Given the description of an element on the screen output the (x, y) to click on. 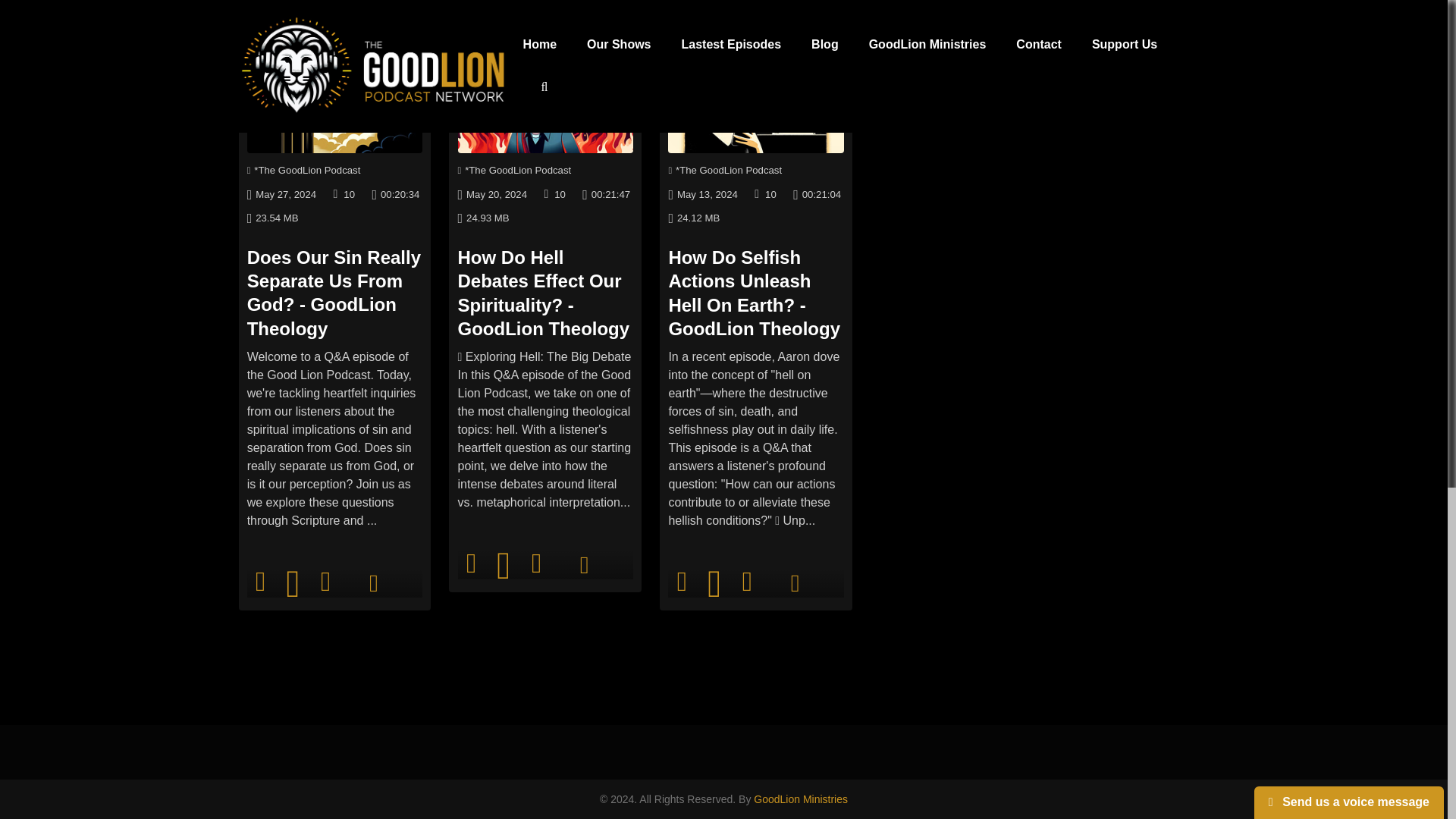
Episode Weight (272, 217)
Episode Duration (395, 193)
10 (560, 194)
30 (326, 581)
Date (281, 193)
10 (349, 194)
10 (471, 563)
10 (261, 581)
Play (294, 583)
Podcast (304, 170)
Rewind 10 seconds (261, 581)
